Given the description of an element on the screen output the (x, y) to click on. 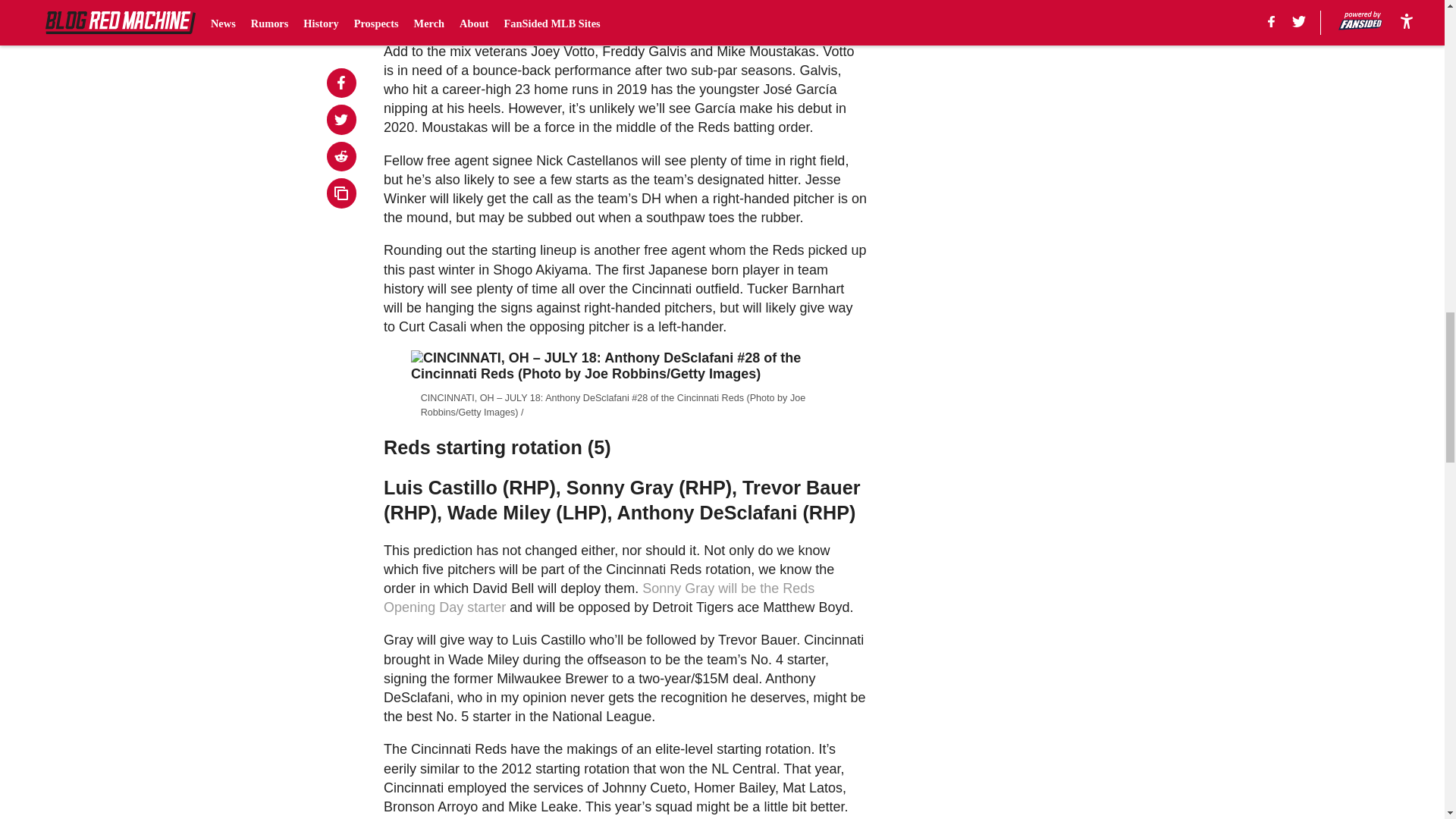
Sonny Gray will be the Reds Opening Day starter (598, 597)
